Given the description of an element on the screen output the (x, y) to click on. 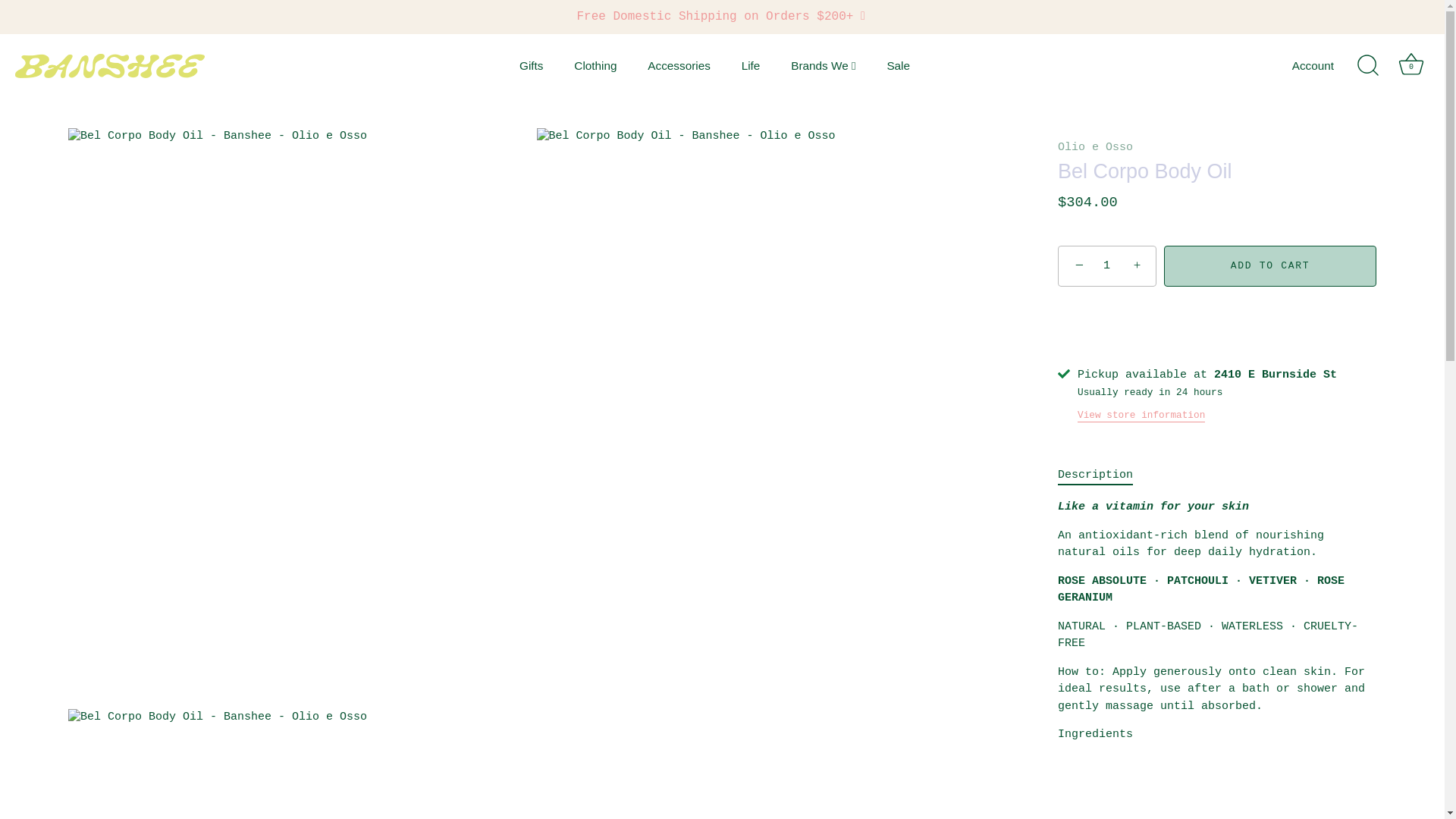
Life (749, 65)
Basket (1410, 63)
Clothing (595, 65)
Gifts (531, 65)
Accessories (678, 65)
